Given the description of an element on the screen output the (x, y) to click on. 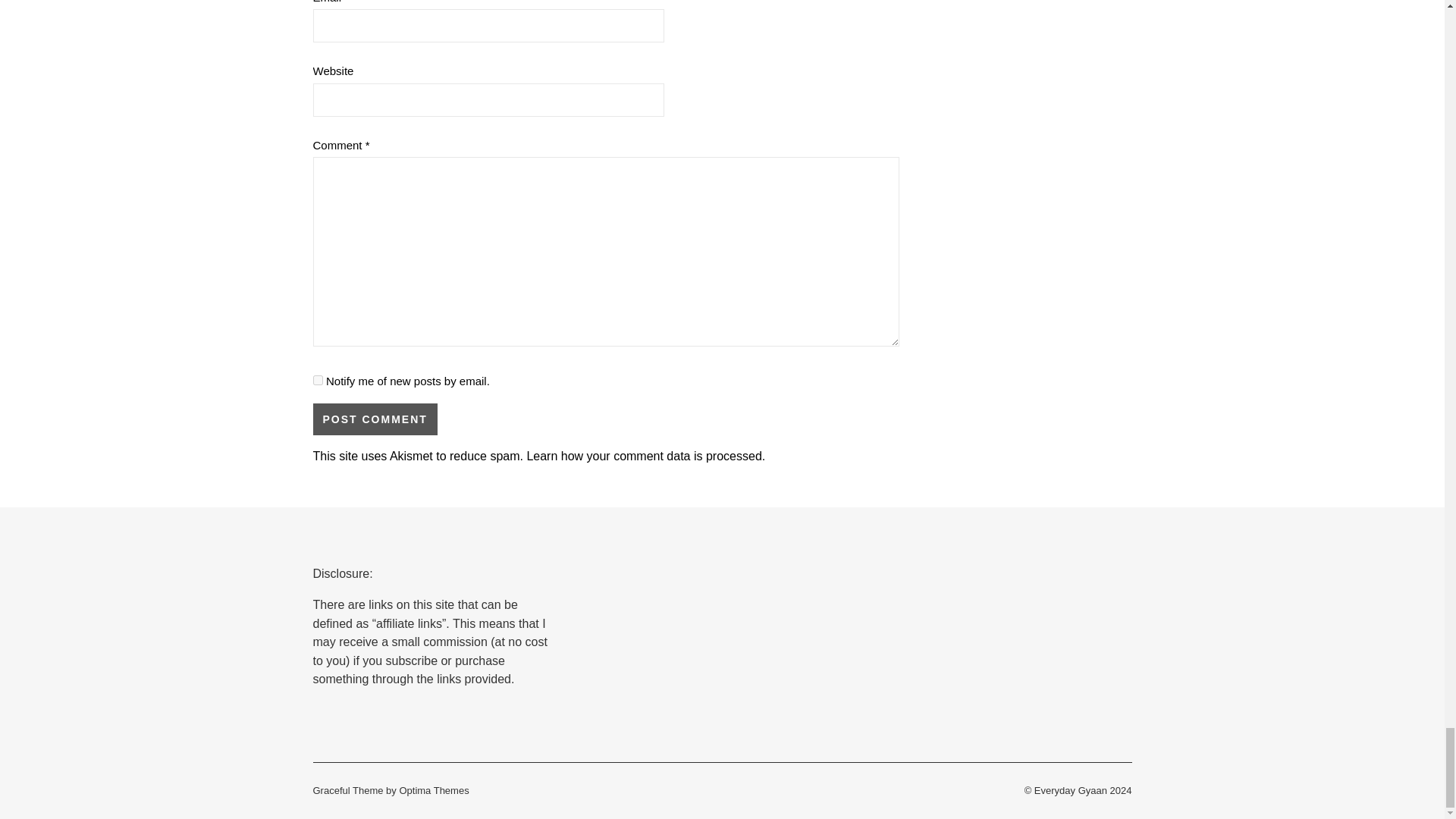
subscribe (317, 379)
Post Comment (374, 418)
